Given the description of an element on the screen output the (x, y) to click on. 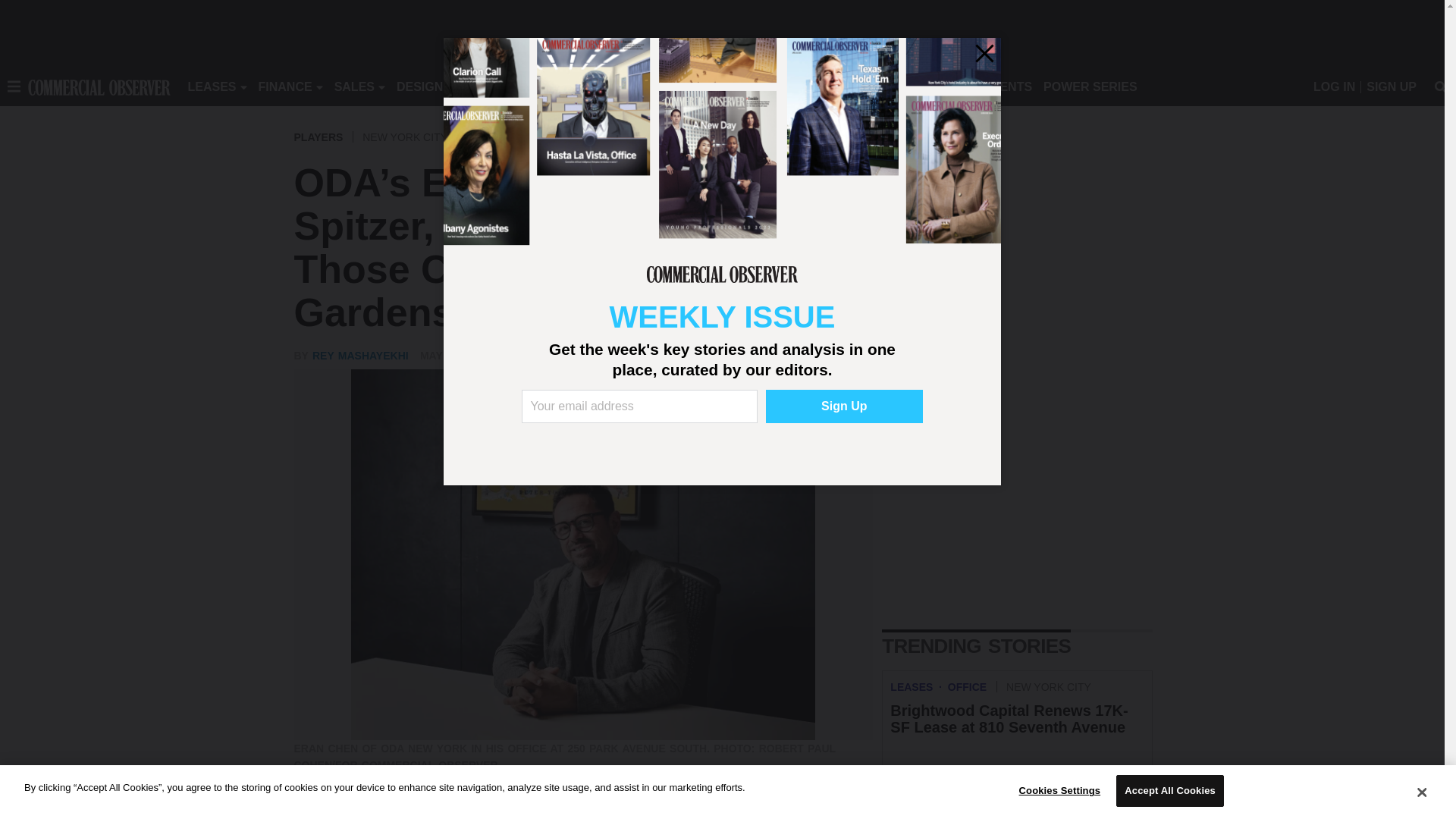
Share on LinkedIn (368, 812)
Send email (398, 812)
Share on Facebook (307, 812)
MORE (691, 86)
Commercial Observer Home (98, 86)
FINANCE (286, 86)
SALES (354, 86)
Tweet (338, 812)
Posts by Rey Mashayekhi (361, 355)
TECHNOLOGY (619, 86)
LEASES (211, 86)
